Given the description of an element on the screen output the (x, y) to click on. 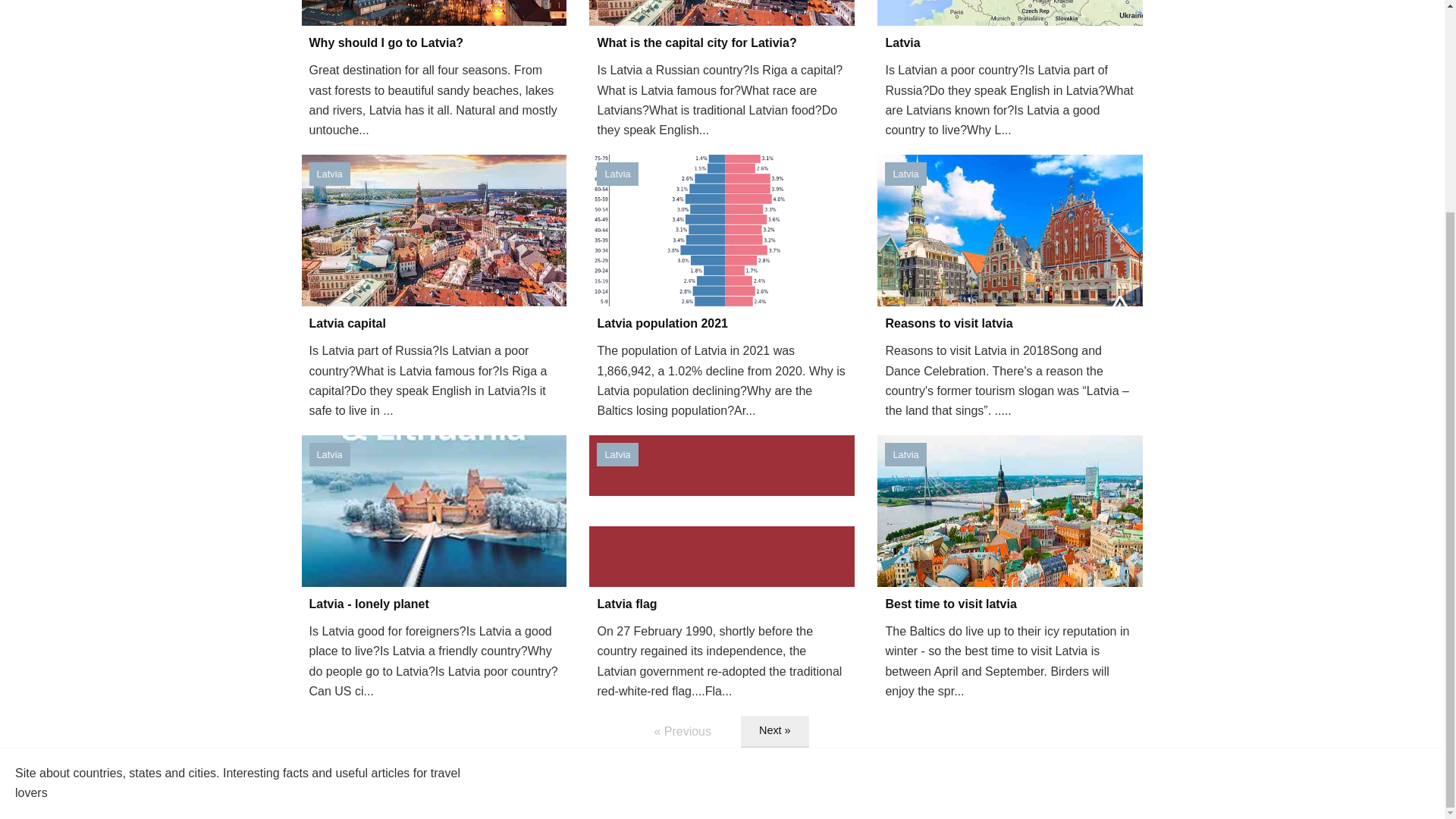
Latvia (1010, 43)
Latvia (905, 173)
Latvia (329, 454)
Latvia flag (721, 604)
Latvia (905, 454)
Latvia population 2021 (721, 323)
Latvia (329, 173)
Latvia capital (433, 323)
Latvia - lonely planet (433, 604)
Latvia (616, 173)
Reasons to visit latvia (1010, 323)
Best time to visit latvia (1010, 604)
Latvia (616, 454)
Why should I go to Latvia? (433, 43)
What is the capital city for Lativia? (721, 43)
